Given the description of an element on the screen output the (x, y) to click on. 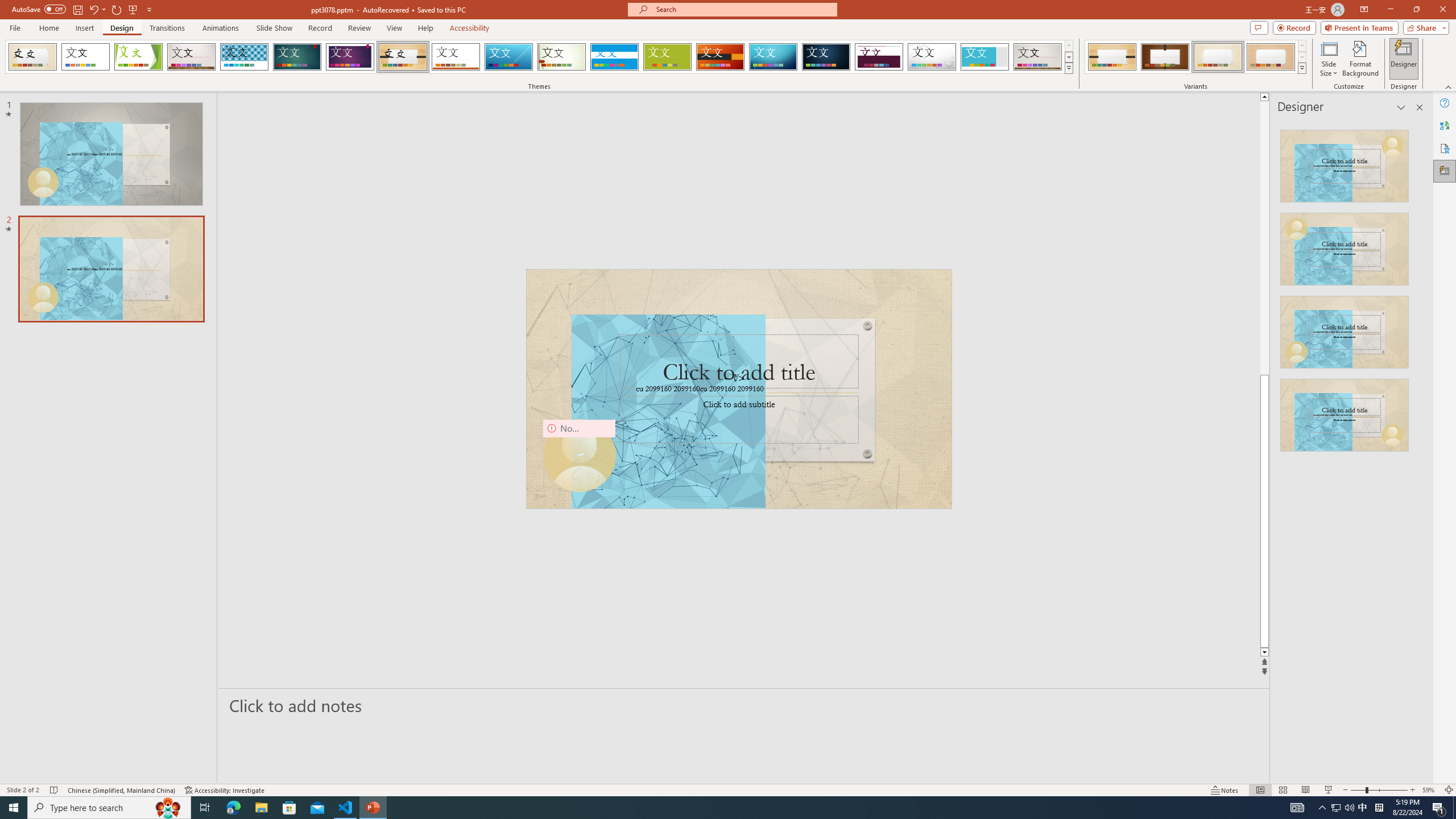
Zoom 59% (1430, 790)
Dividend (879, 56)
Ion Boardroom (350, 56)
Circuit (772, 56)
Slice (508, 56)
Organic (403, 56)
